Given the description of an element on the screen output the (x, y) to click on. 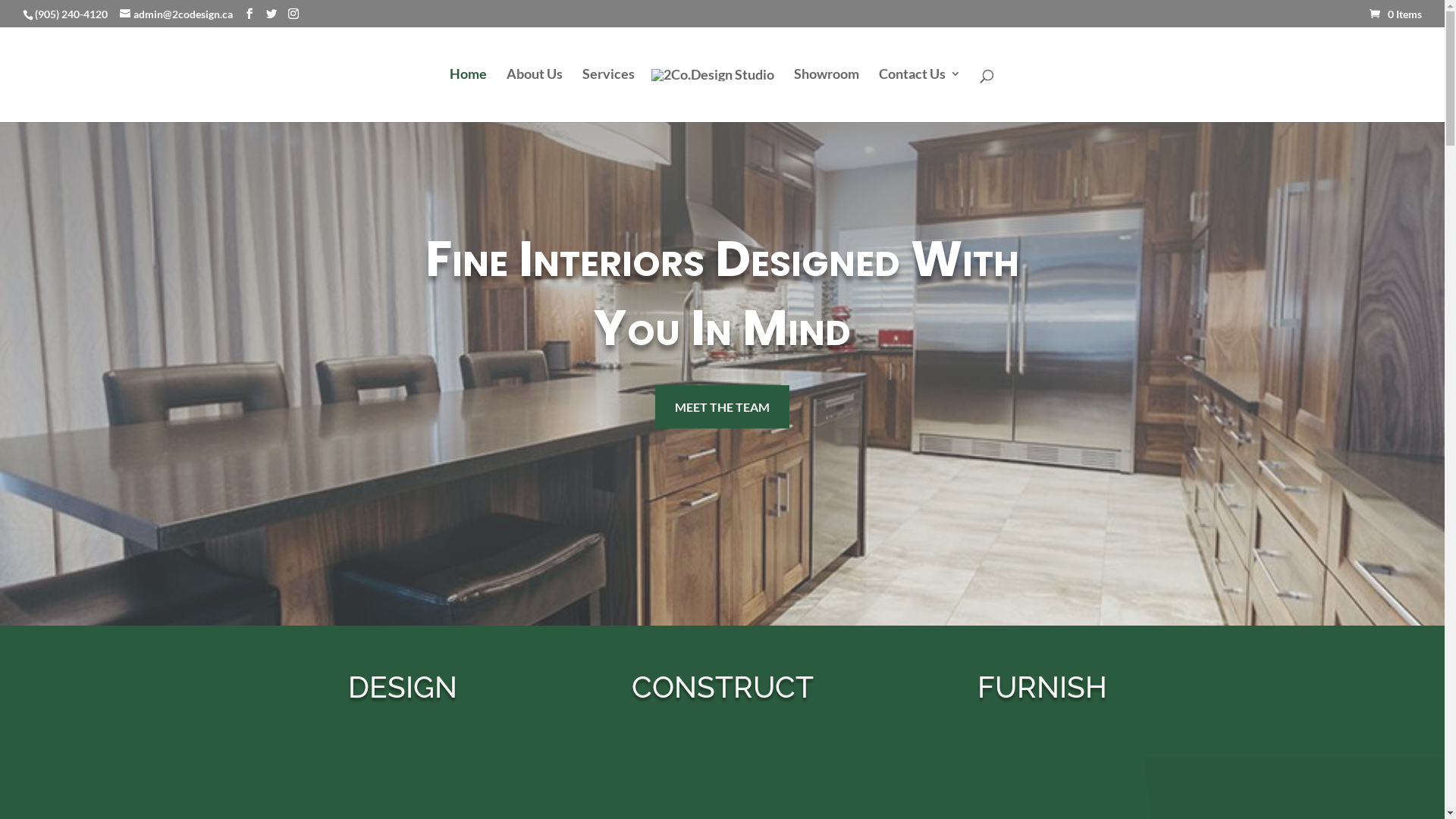
0 Items Element type: text (1395, 13)
Contact Us Element type: text (919, 92)
admin@2codesign.ca Element type: text (175, 13)
MEET THE TEAM Element type: text (722, 406)
Home Element type: text (467, 92)
Services Element type: text (608, 92)
Showroom Element type: text (825, 92)
About Us Element type: text (534, 92)
